Given the description of an element on the screen output the (x, y) to click on. 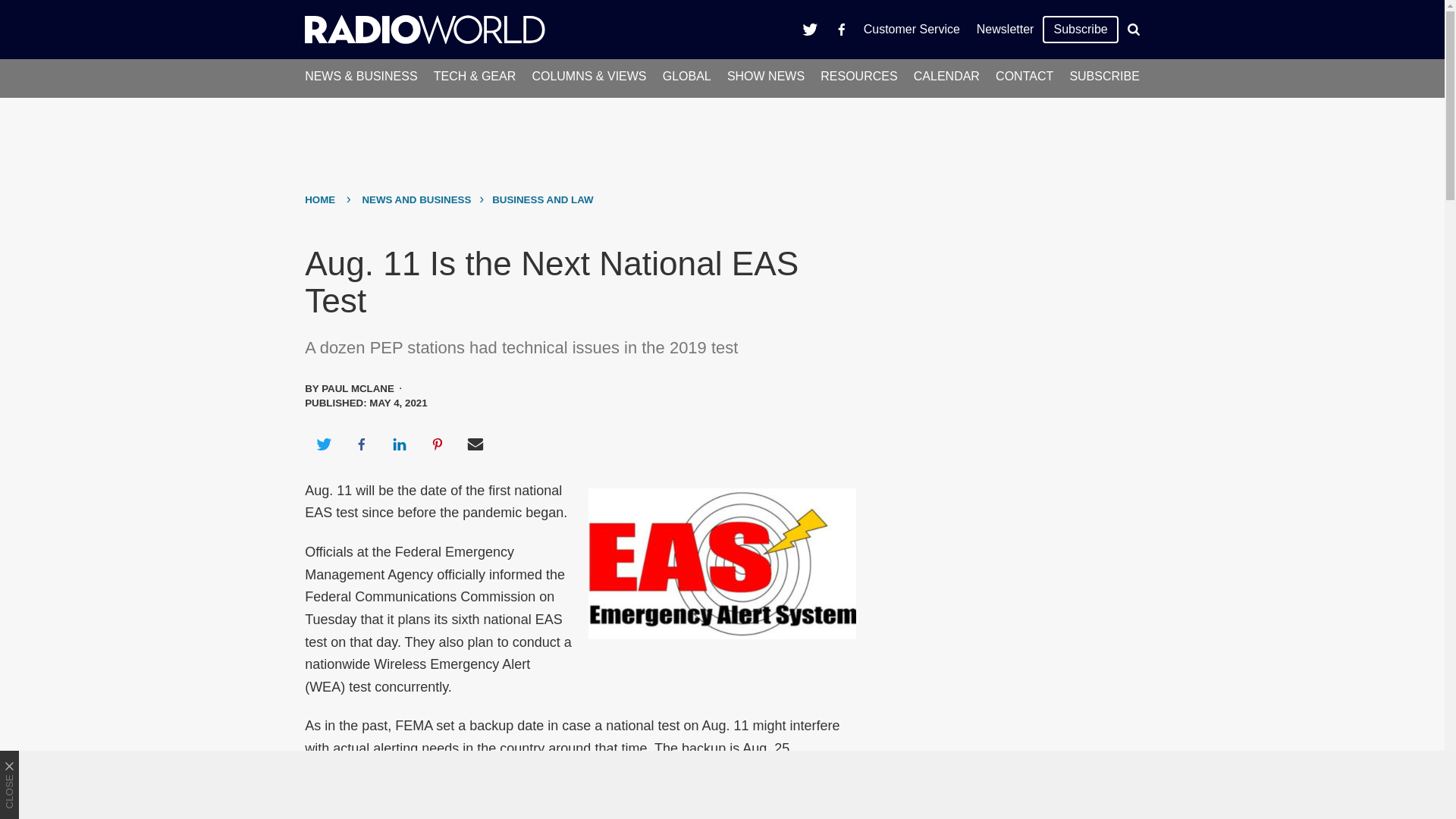
Share on Facebook (361, 444)
Customer Service (912, 29)
Share on Pinterest (438, 444)
Share on Twitter (323, 444)
Share on LinkedIn (399, 444)
Share via Email (476, 444)
